Given the description of an element on the screen output the (x, y) to click on. 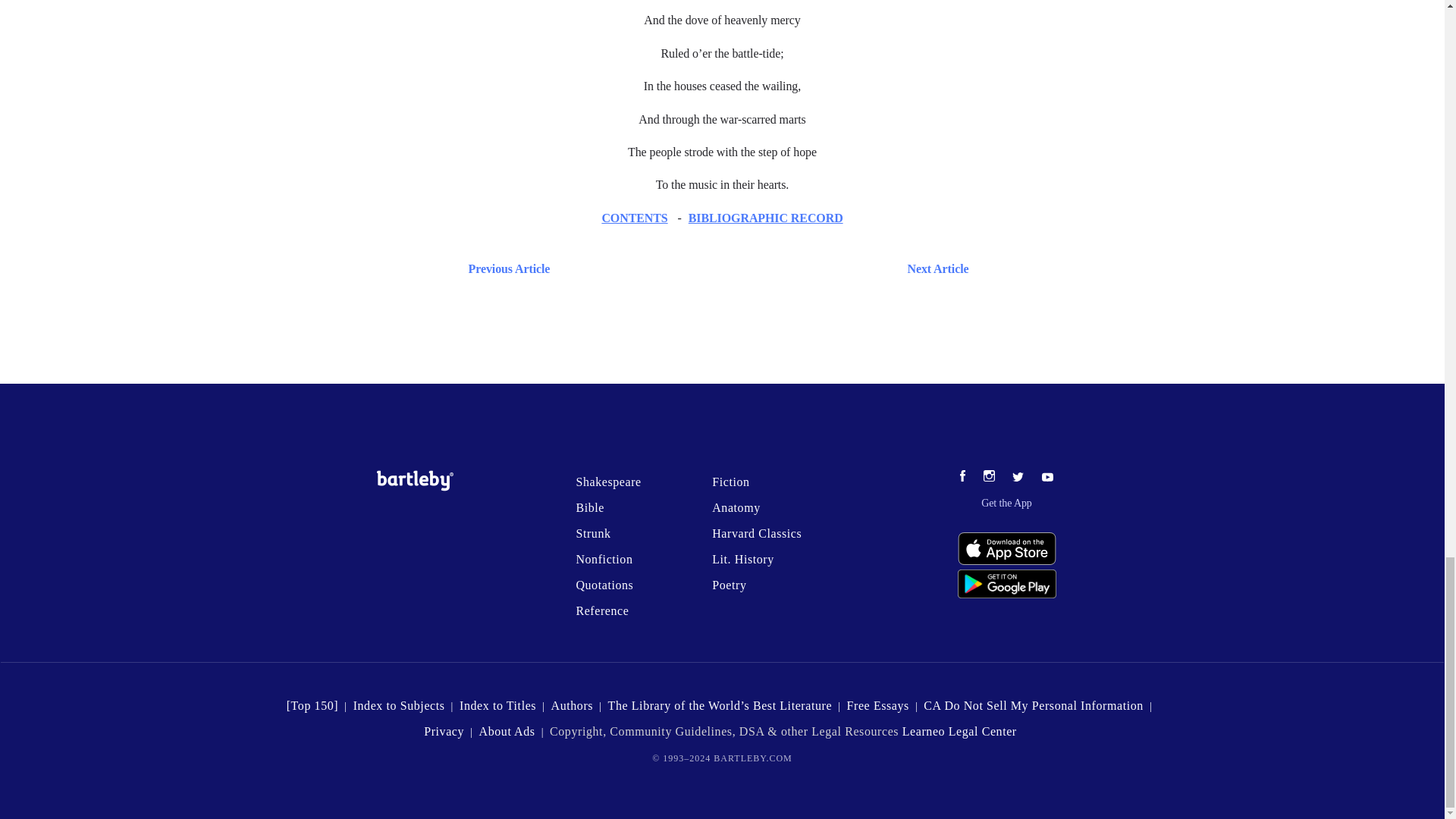
Next Article (766, 268)
BIBLIOGRAPHIC RECORD (765, 217)
Harvard Classics (756, 533)
Previous Article (505, 268)
Fiction (730, 481)
CONTENTS (633, 217)
Shakespeare (607, 481)
Anatomy (735, 507)
Bible (589, 507)
Strunk (592, 533)
Nonfiction (603, 558)
Poetry (728, 584)
Quotations (604, 584)
Lit. History (742, 558)
Reference (601, 610)
